Given the description of an element on the screen output the (x, y) to click on. 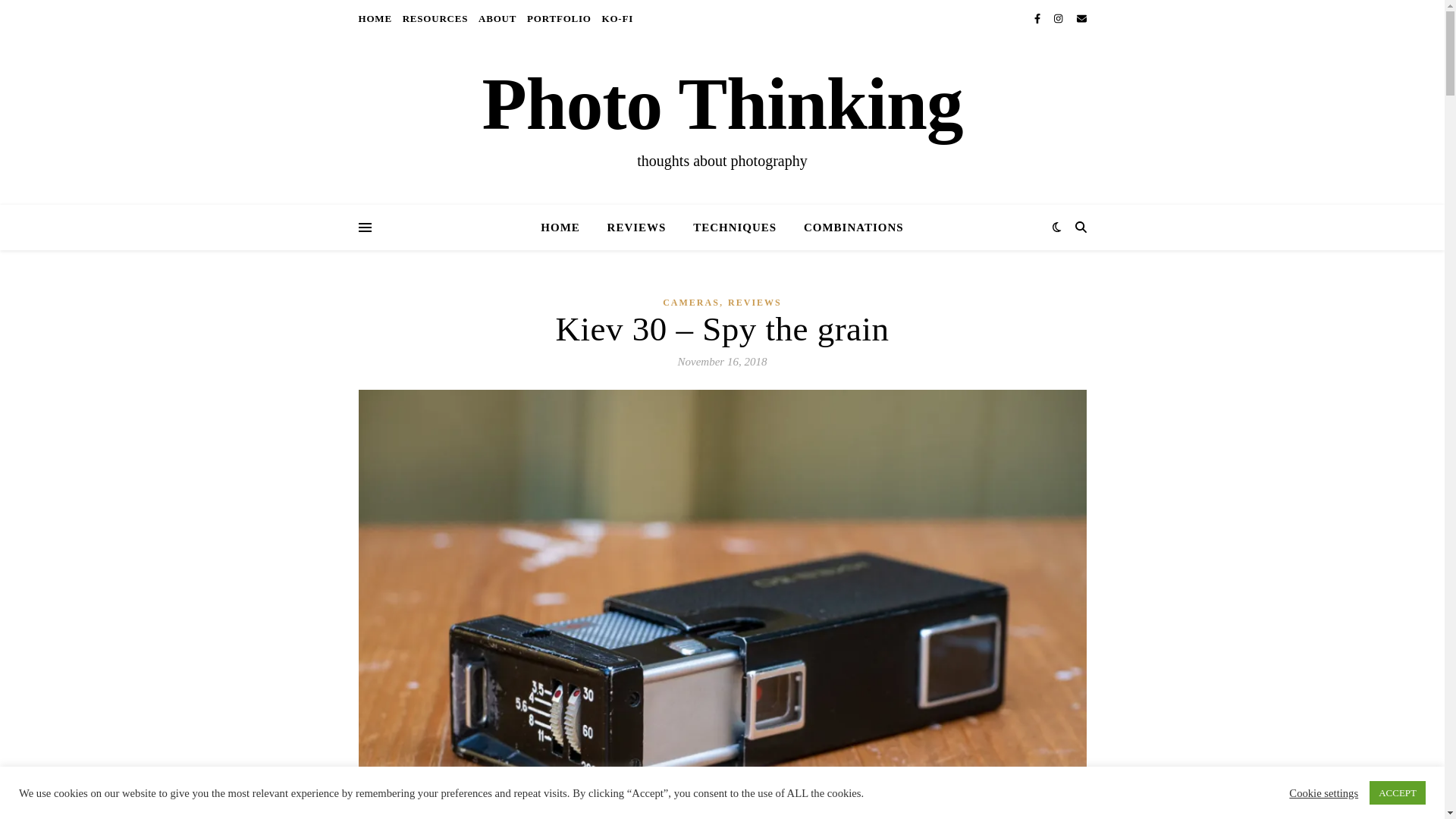
HOME (376, 18)
PORTFOLIO (558, 18)
Photo Thinking (721, 103)
KO-FI (615, 18)
REVIEWS (636, 227)
TECHNIQUES (735, 227)
RESOURCES (434, 18)
COMBINATIONS (848, 227)
HOME (566, 227)
ABOUT (496, 18)
